Given the description of an element on the screen output the (x, y) to click on. 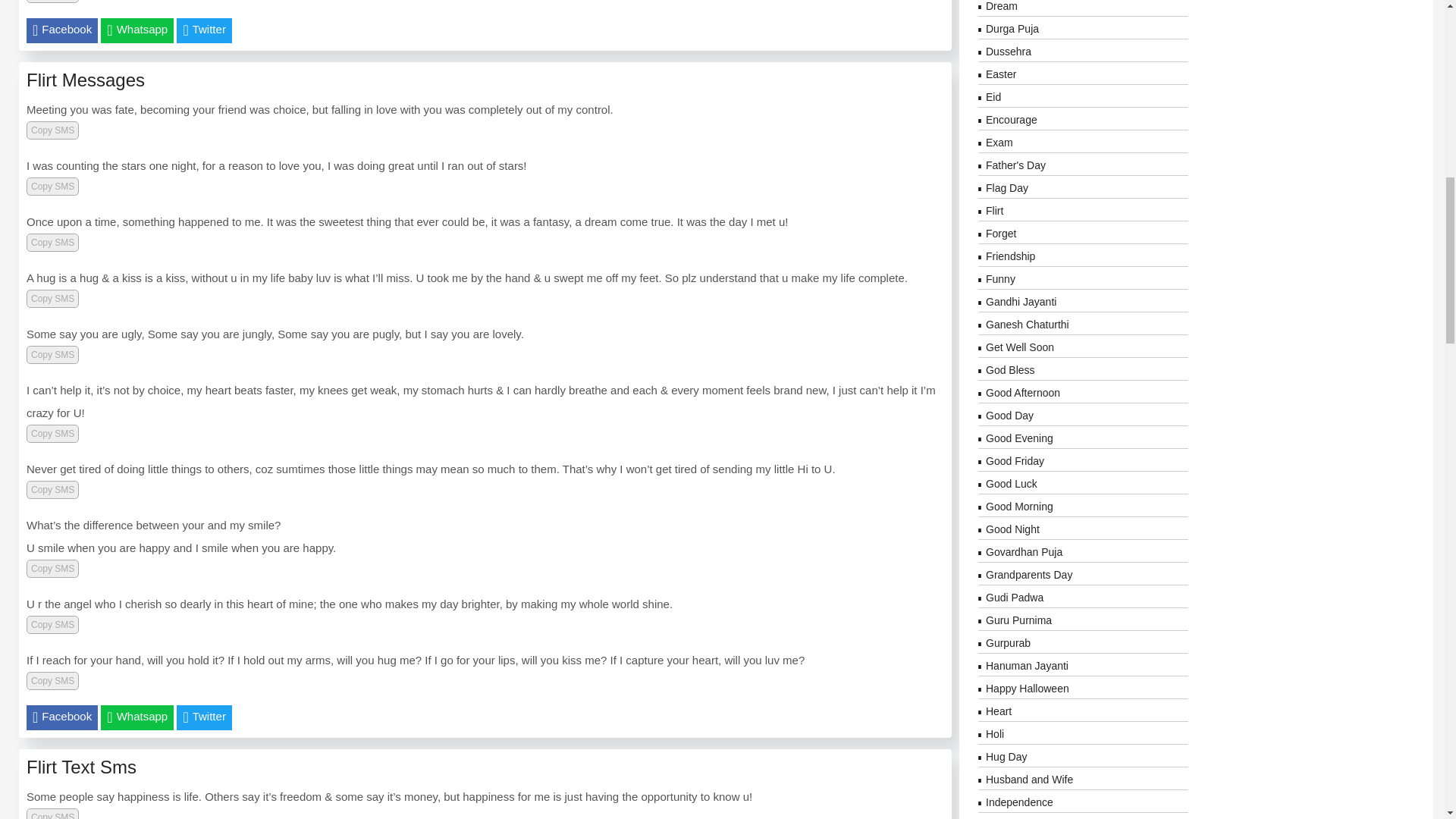
Copy SMS (52, 434)
Copy SMS (52, 1)
Copy SMS (52, 354)
Copy SMS (52, 568)
Copy SMS (52, 186)
Copy SMS (52, 489)
Copy SMS (52, 130)
Copy SMS (52, 242)
Copy SMS (52, 298)
